Given the description of an element on the screen output the (x, y) to click on. 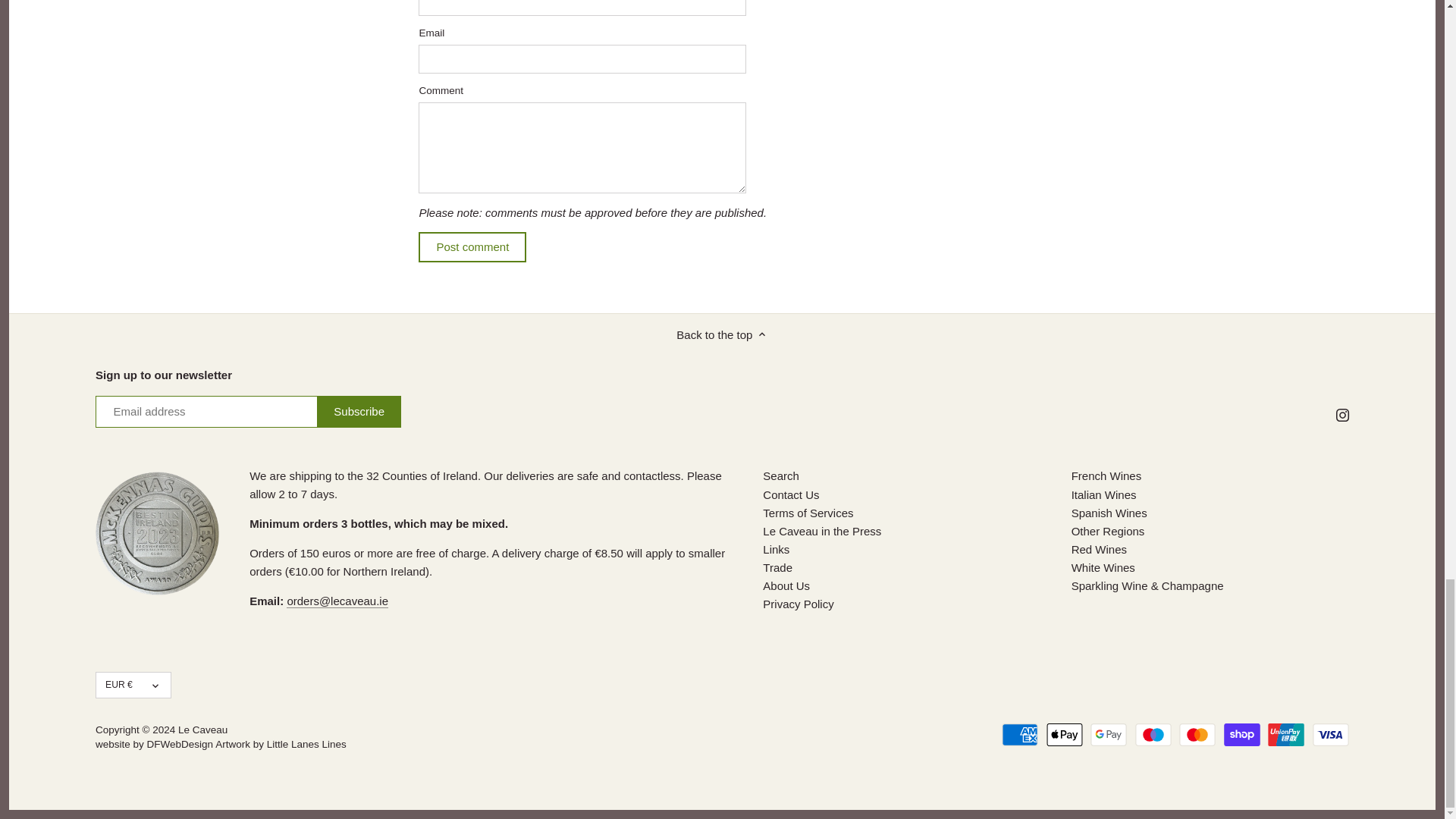
Shop Pay (1242, 734)
Union Pay (1286, 734)
Google Pay (1108, 734)
Subscribe (359, 411)
Instagram (1342, 414)
American Express (1019, 734)
Mastercard (1197, 734)
Apple Pay (1064, 734)
Post comment (472, 246)
Maestro (1153, 734)
